Given the description of an element on the screen output the (x, y) to click on. 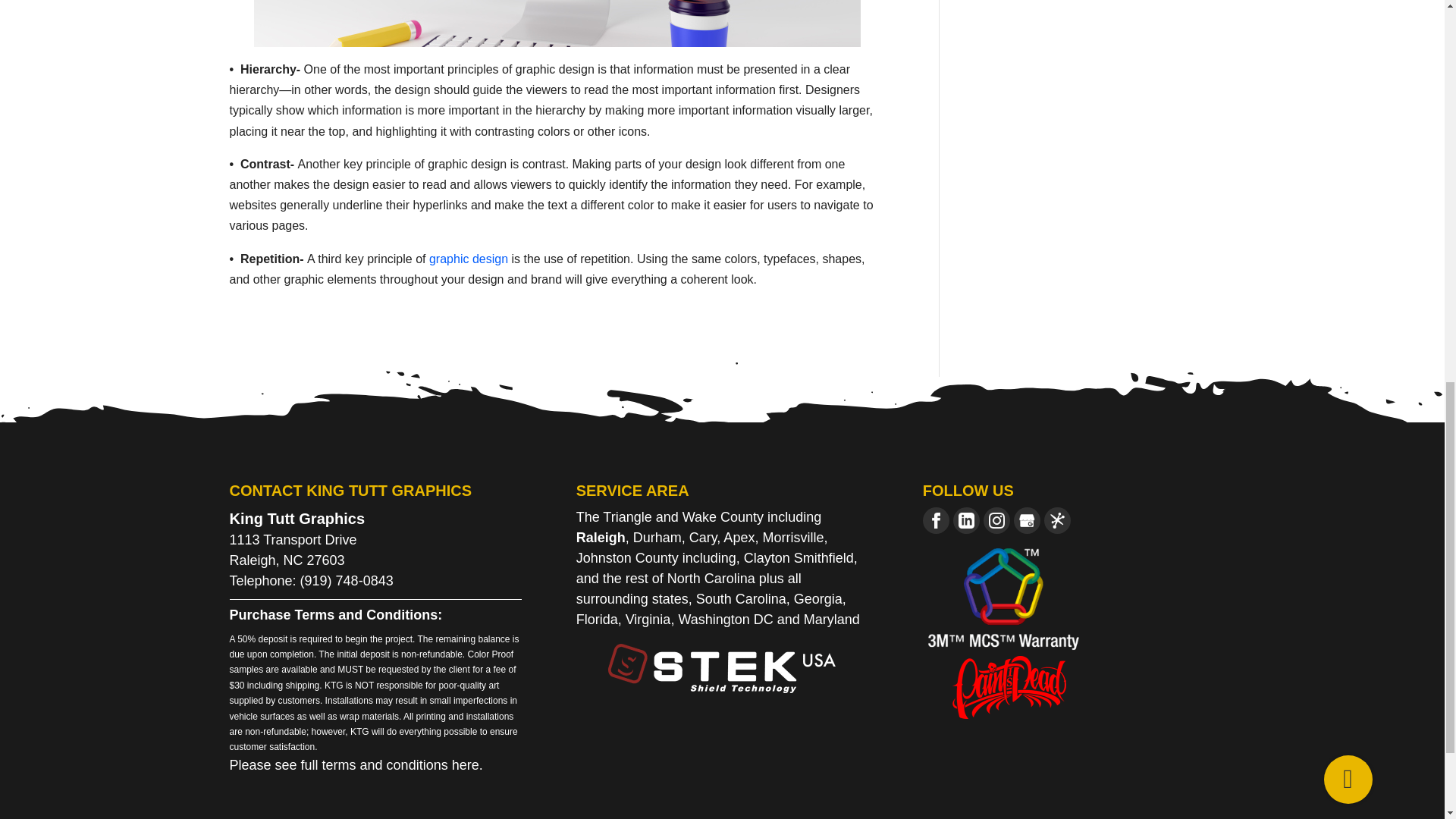
LinkedIn (966, 519)
Facebook (935, 520)
Facebook (936, 519)
